Given the description of an element on the screen output the (x, y) to click on. 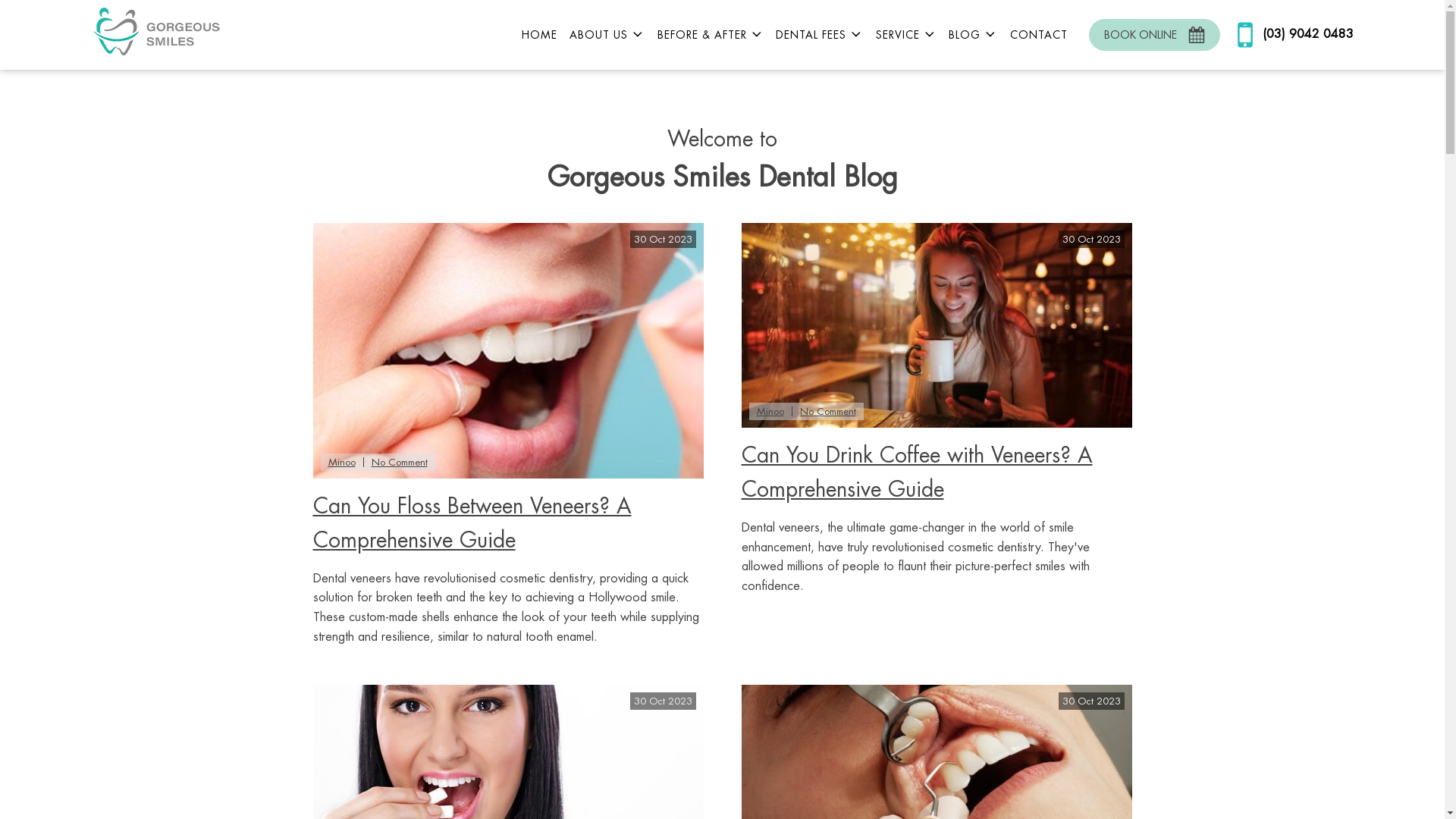
(03) 9042 0483 Element type: text (1290, 34)
No Comment Element type: text (399, 462)
BEFORE & AFTER Element type: text (710, 34)
BOOK ONLINE Element type: text (1154, 34)
Can You Drink Coffee with Veneers? A Comprehensive Guide Element type: text (916, 472)
HOME Element type: text (539, 34)
30 Oct 2023 Element type: text (507, 350)
30 Oct 2023 Element type: text (936, 324)
SERVICE Element type: text (906, 34)
DENTAL FEES Element type: text (819, 34)
BLOG Element type: text (973, 34)
Minoo Element type: text (770, 411)
Minoo Element type: text (340, 462)
ABOUT US Element type: text (607, 34)
Can You Floss Between Veneers? A Comprehensive Guide Element type: text (471, 523)
No Comment Element type: text (827, 411)
CONTACT Element type: text (1038, 34)
